Given the description of an element on the screen output the (x, y) to click on. 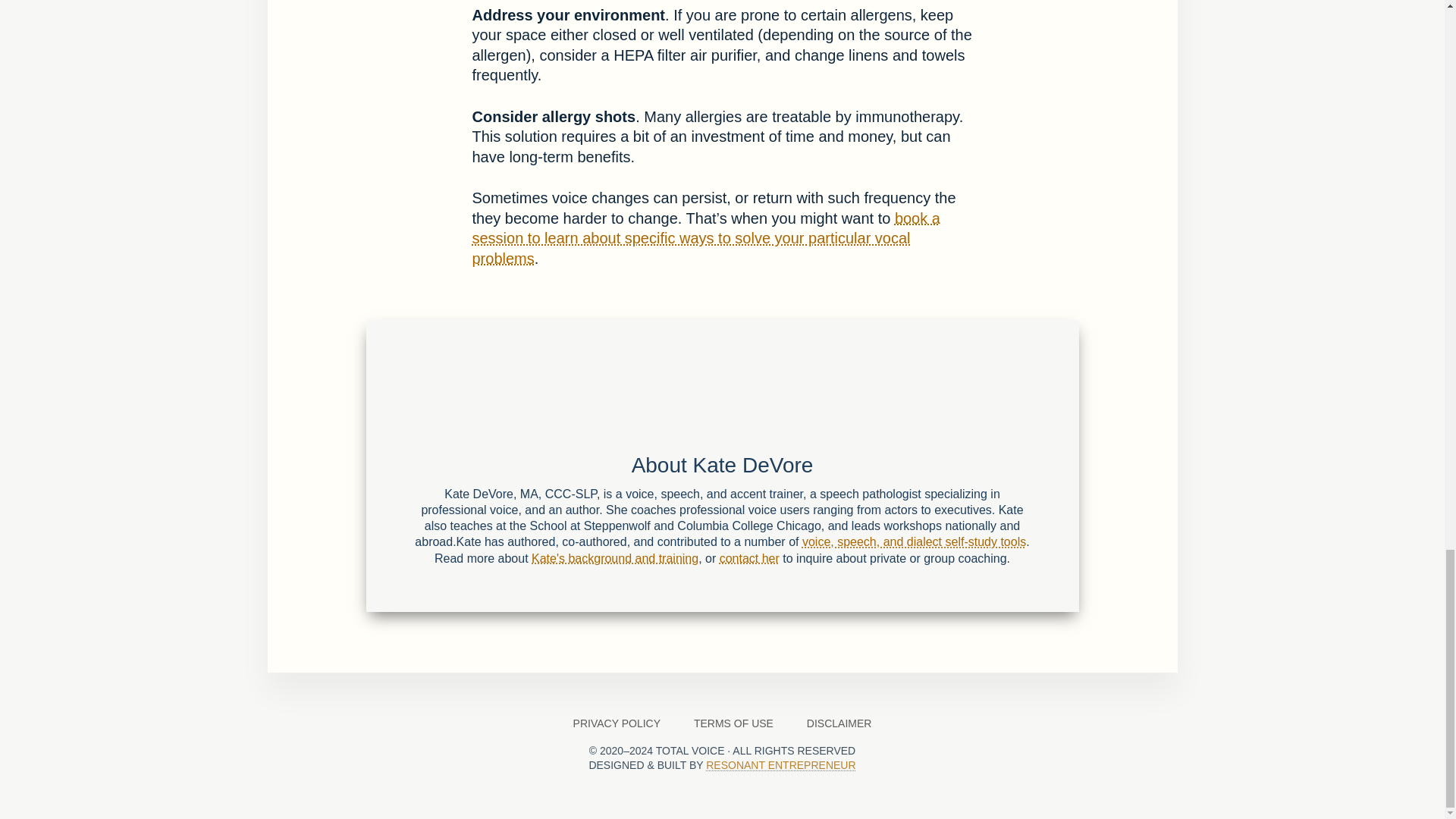
TERMS OF USE (733, 723)
DISCLAIMER (839, 723)
Kate's background and training (614, 558)
voice, speech, and dialect self-study tools (914, 541)
RESONANT ENTREPRENEUR (781, 765)
PRIVACY POLICY (616, 723)
contact her (748, 558)
